Given the description of an element on the screen output the (x, y) to click on. 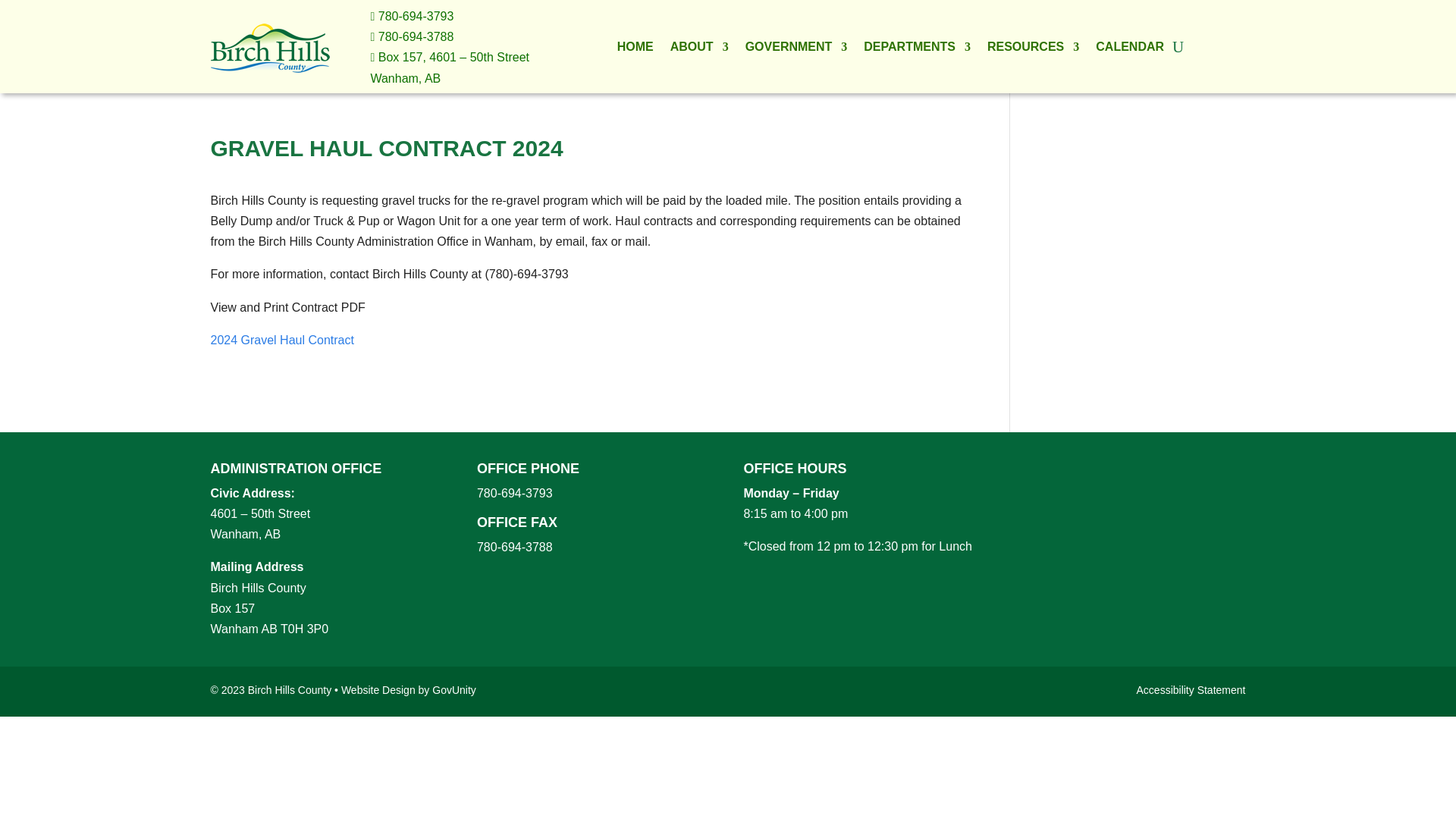
HOME (635, 49)
GOVERNMENT (796, 49)
RESOURCES (1032, 49)
CALENDAR (1129, 49)
Logo (270, 46)
ABOUT (699, 49)
DEPARTMENTS (917, 49)
